Given the description of an element on the screen output the (x, y) to click on. 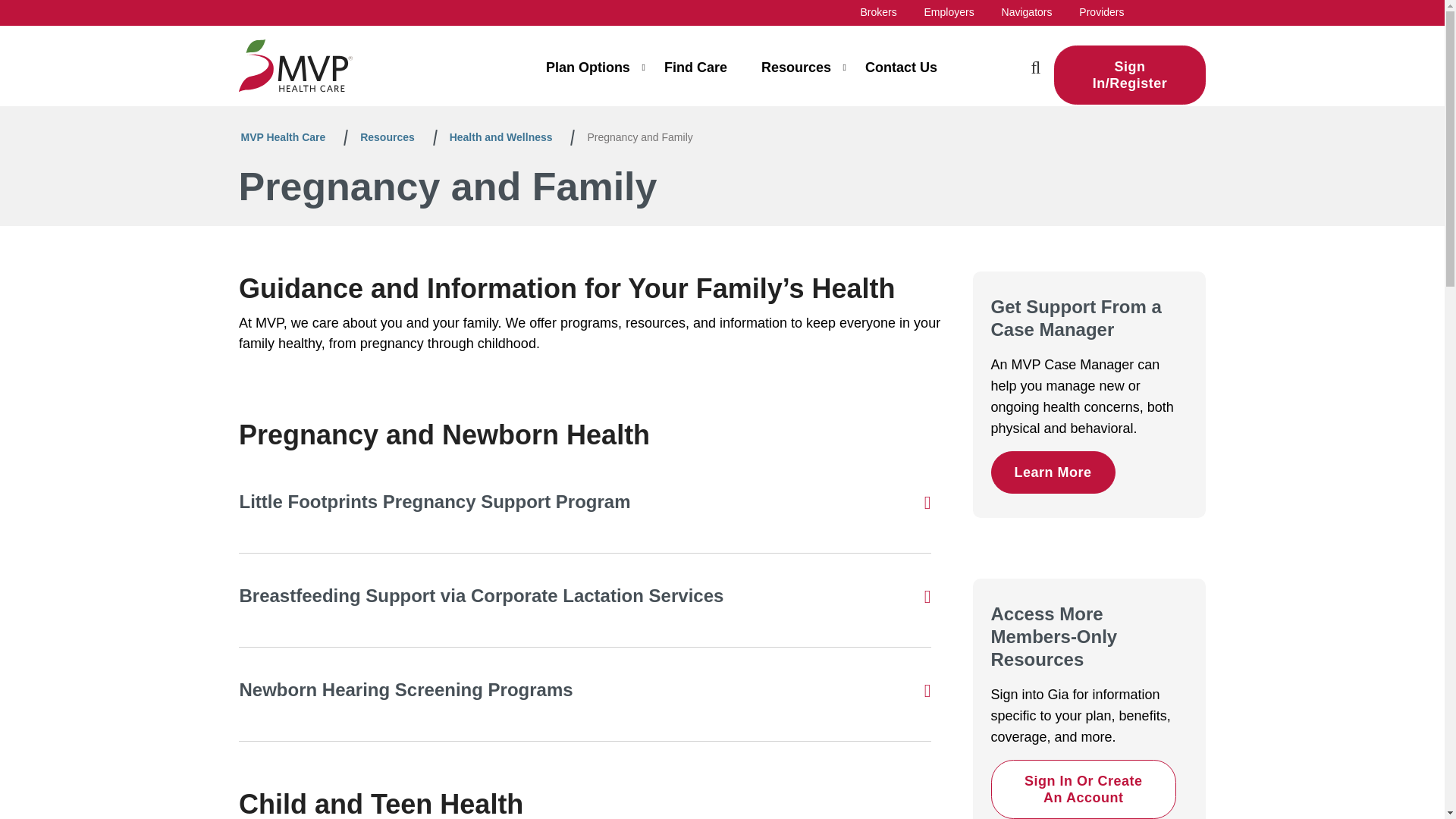
Logo (295, 65)
Navigators (1026, 11)
Find Care (694, 74)
Providers (1101, 11)
Brokers (878, 11)
Navigators (1026, 11)
Contact Us (900, 74)
Employers (949, 11)
